Given the description of an element on the screen output the (x, y) to click on. 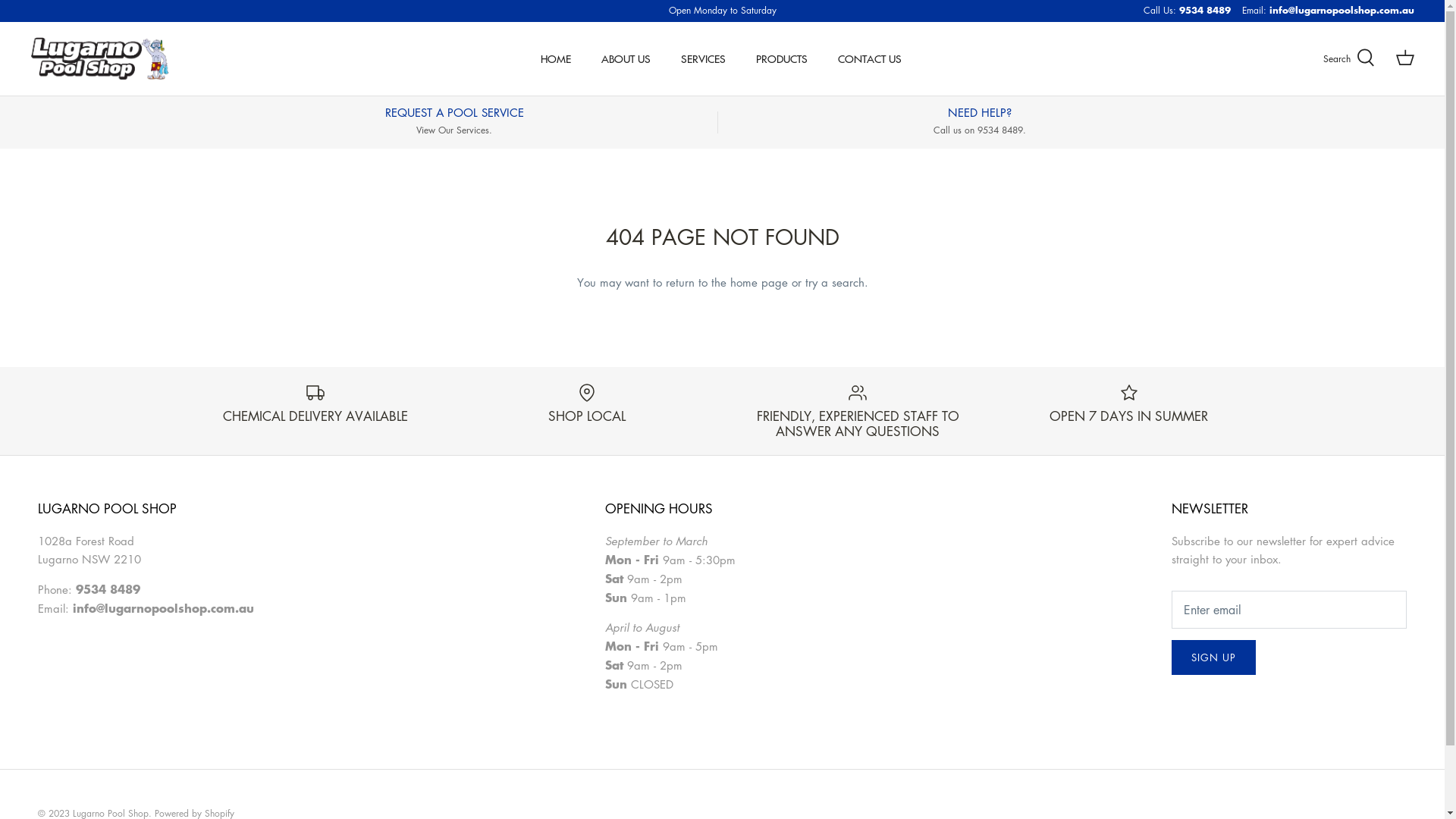
NEED HELP?
Call us on 9534 8489. Element type: text (979, 120)
PRODUCTS Element type: text (781, 58)
FRIENDLY, EXPERIENCED STAFF TO ANSWER ANY QUESTIONS Element type: text (858, 410)
SIGN UP Element type: text (1213, 657)
Email: info@lugarnopoolshop.com.au Element type: text (1328, 10)
CONTACT US Element type: text (869, 58)
CHEMICAL DELIVERY AVAILABLE Element type: text (315, 402)
Lugarno Pool Shop Element type: hover (100, 58)
Call Us: 9534 8489 Element type: text (1186, 10)
OPEN 7 DAYS IN SUMMER Element type: text (1128, 402)
SHOP LOCAL Element type: text (586, 402)
Search Element type: text (1348, 58)
HOME Element type: text (555, 58)
try a search Element type: text (834, 281)
info@lugarnopoolshop.com.au Element type: text (163, 607)
REQUEST A POOL SERVICE
View Our Services. Element type: text (453, 120)
ABOUT US Element type: text (625, 58)
home page Element type: text (758, 281)
SERVICES Element type: text (703, 58)
9534 8489 Element type: text (107, 588)
Open Monday to Saturday Element type: text (722, 10)
